Given the description of an element on the screen output the (x, y) to click on. 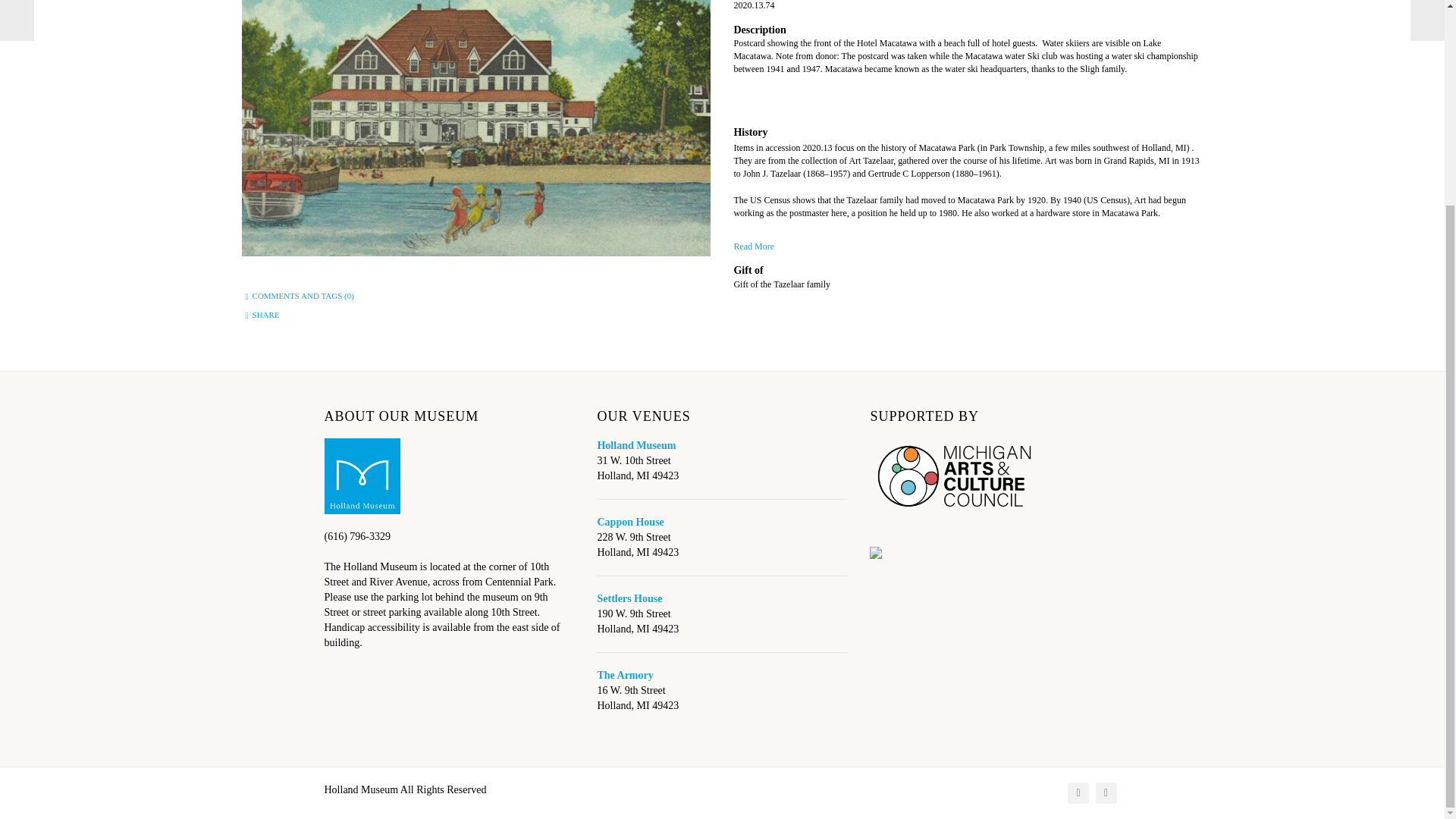
Settlers House (629, 598)
Cappon House (629, 521)
Holland Museum (635, 445)
Read More (967, 242)
SHARE (265, 314)
The Armory (624, 674)
